Given the description of an element on the screen output the (x, y) to click on. 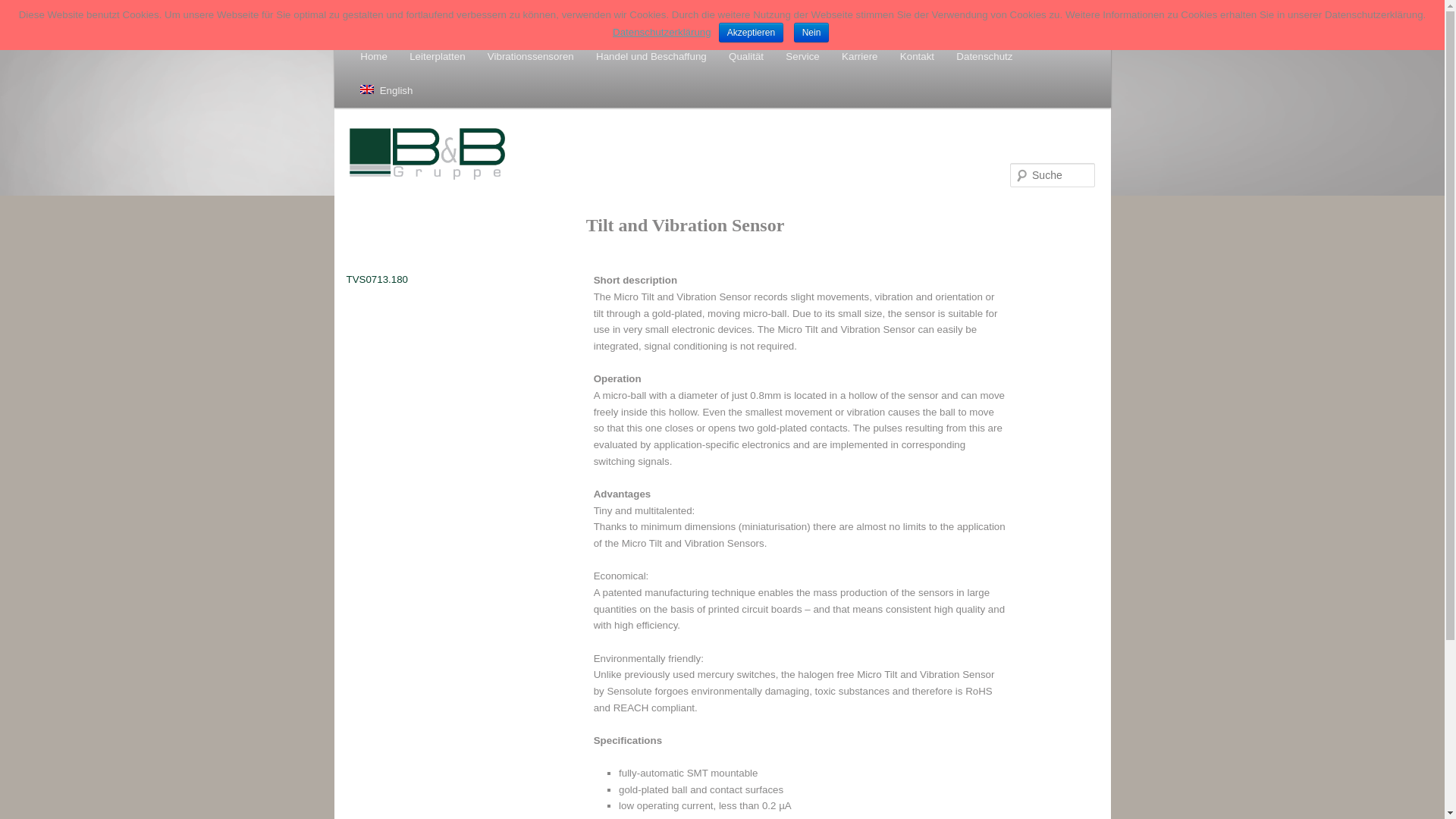
Home (373, 56)
Skip to secondary content (426, 56)
Skip to primary content (419, 56)
Akzeptieren (751, 32)
Karriere (858, 56)
Search (21, 7)
 English (386, 90)
Handel und Beschaffung (651, 56)
Leiterplatten (437, 56)
Datenschutz (983, 56)
Service (802, 56)
Skip to primary content (419, 56)
Vibrationssensoren (530, 56)
Nein (811, 32)
Skip to secondary content (426, 56)
